Given the description of an element on the screen output the (x, y) to click on. 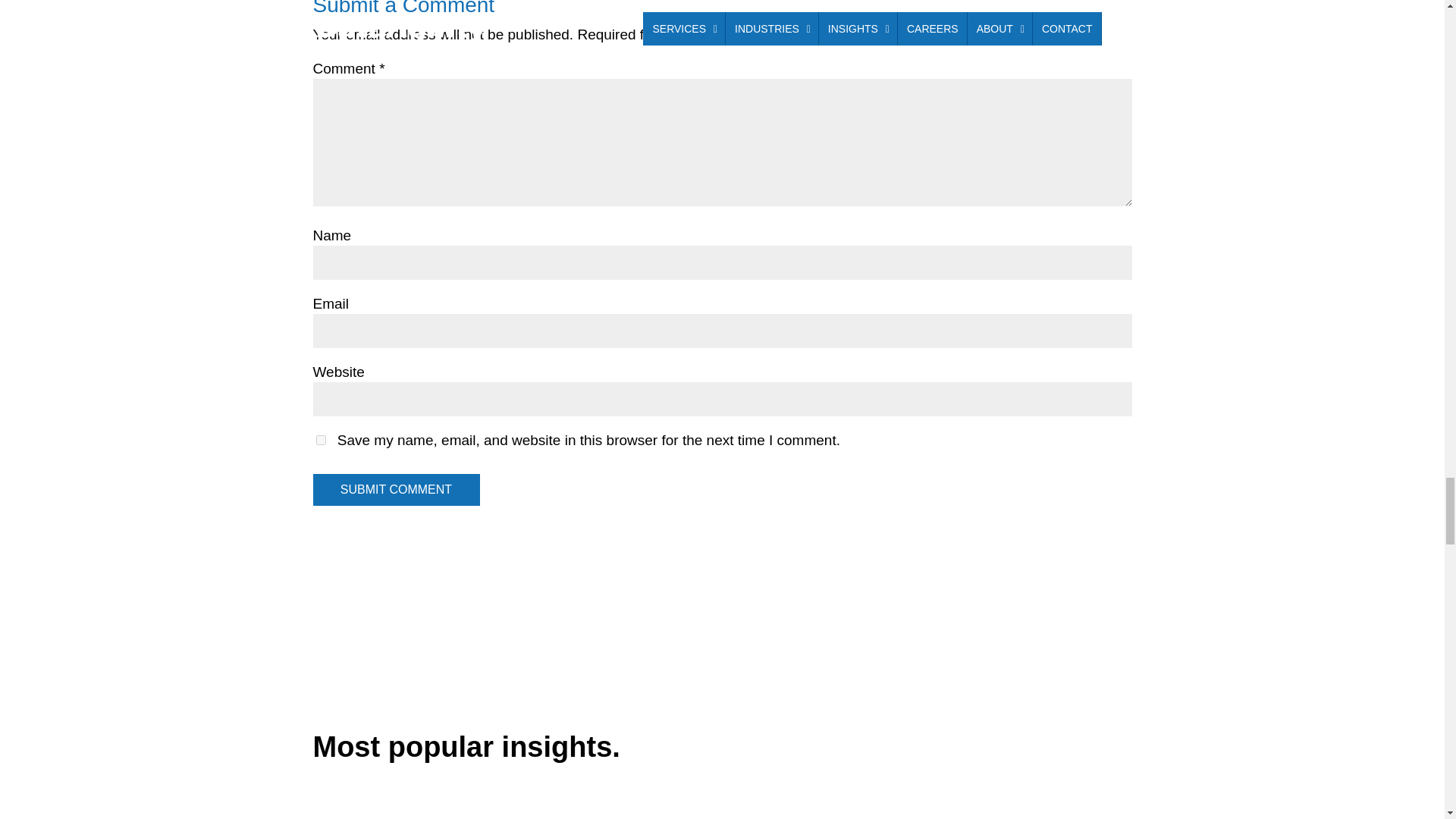
SUBMIT COMMENT (396, 490)
yes (319, 439)
